Given the description of an element on the screen output the (x, y) to click on. 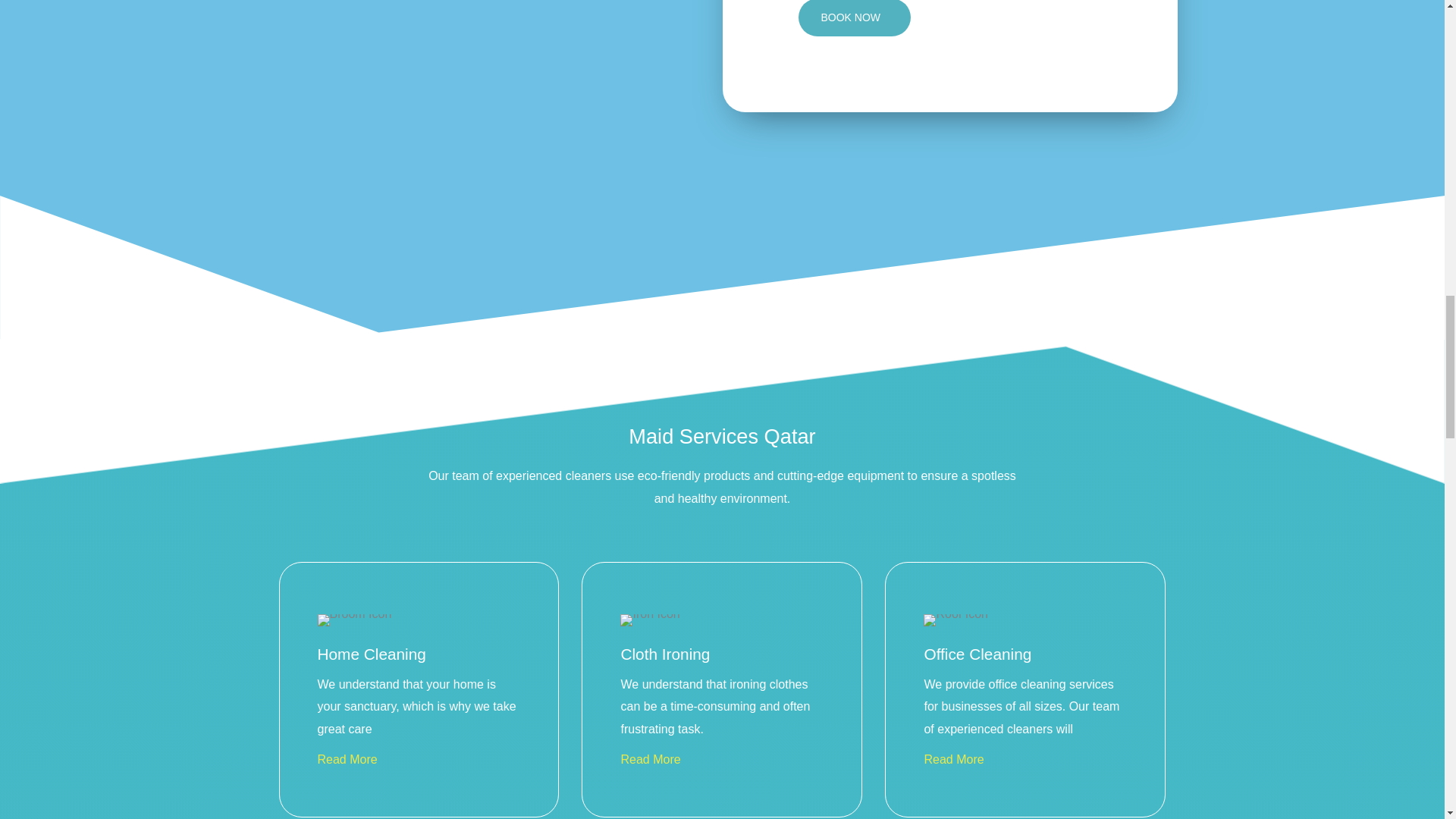
Read More (348, 758)
BOOK NOW (854, 18)
Read More (652, 758)
